Given the description of an element on the screen output the (x, y) to click on. 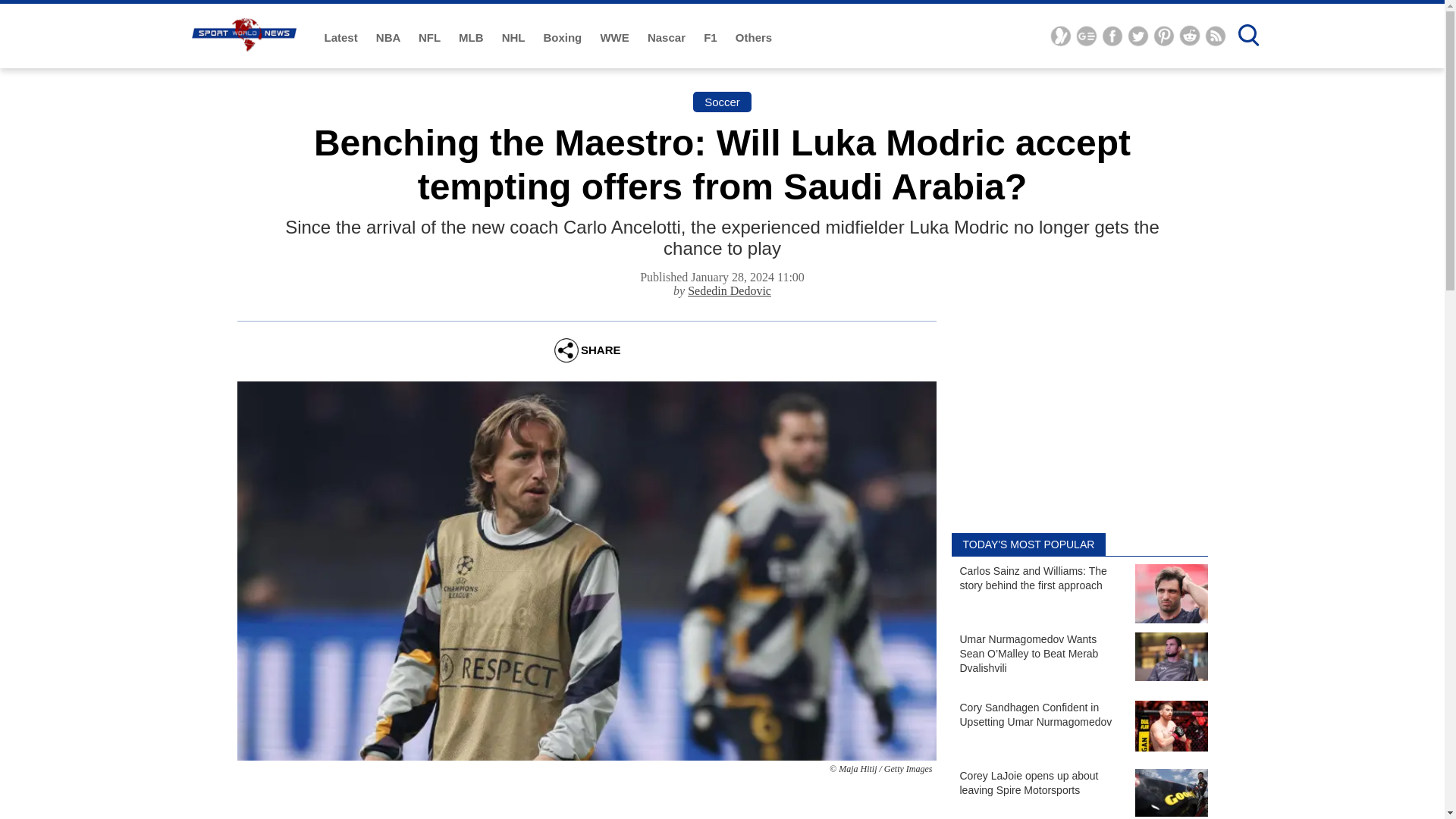
NBA (389, 37)
NHL (515, 37)
Others (753, 37)
MLB (472, 37)
NFL (431, 37)
Boxing (564, 37)
Nascar (667, 37)
WWE (615, 37)
Latest (342, 37)
F1 (711, 37)
